Given the description of an element on the screen output the (x, y) to click on. 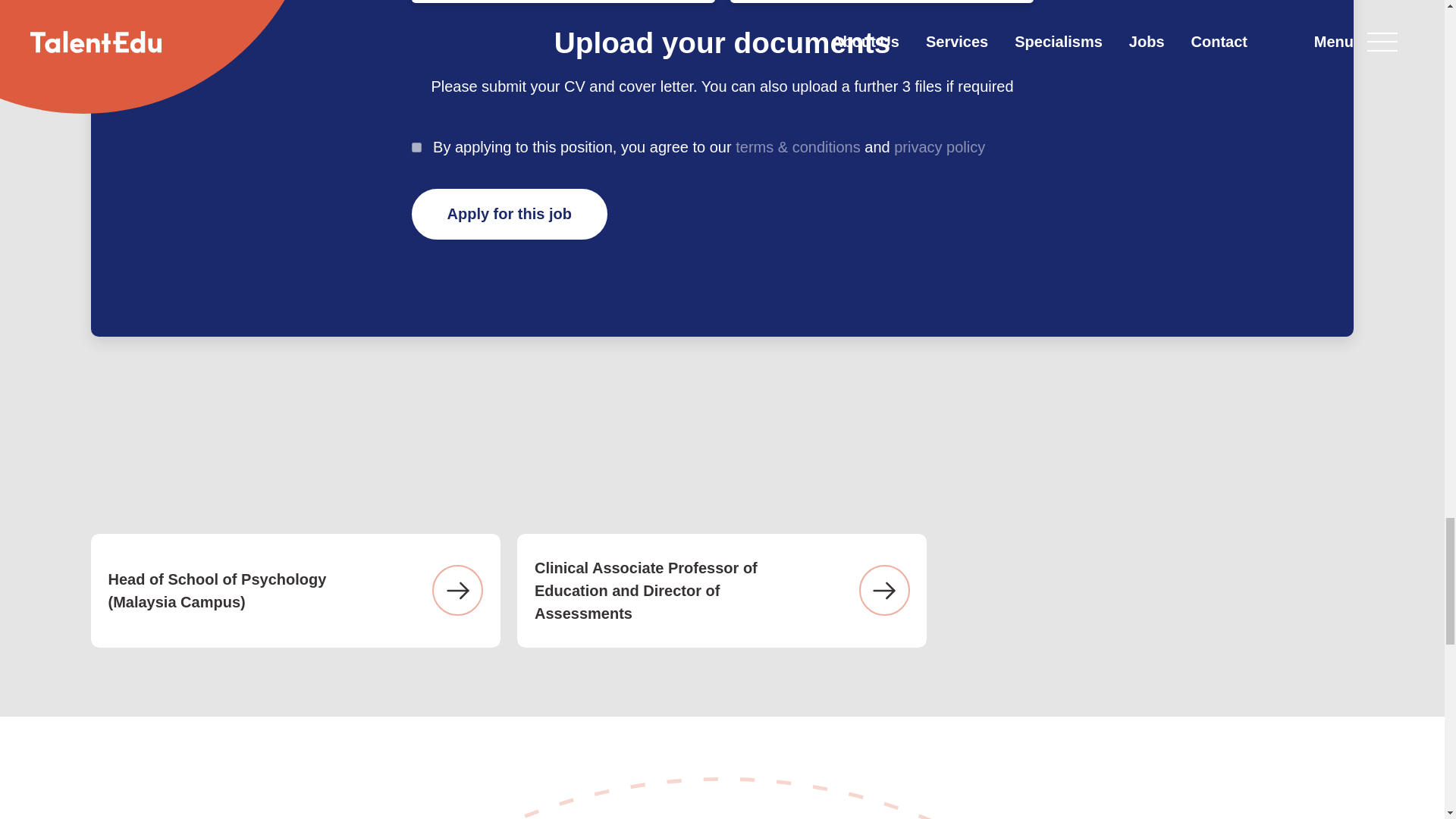
Apply for this job (508, 214)
Apply for this job (508, 214)
privacy policy (939, 146)
1 (415, 147)
